Given the description of an element on the screen output the (x, y) to click on. 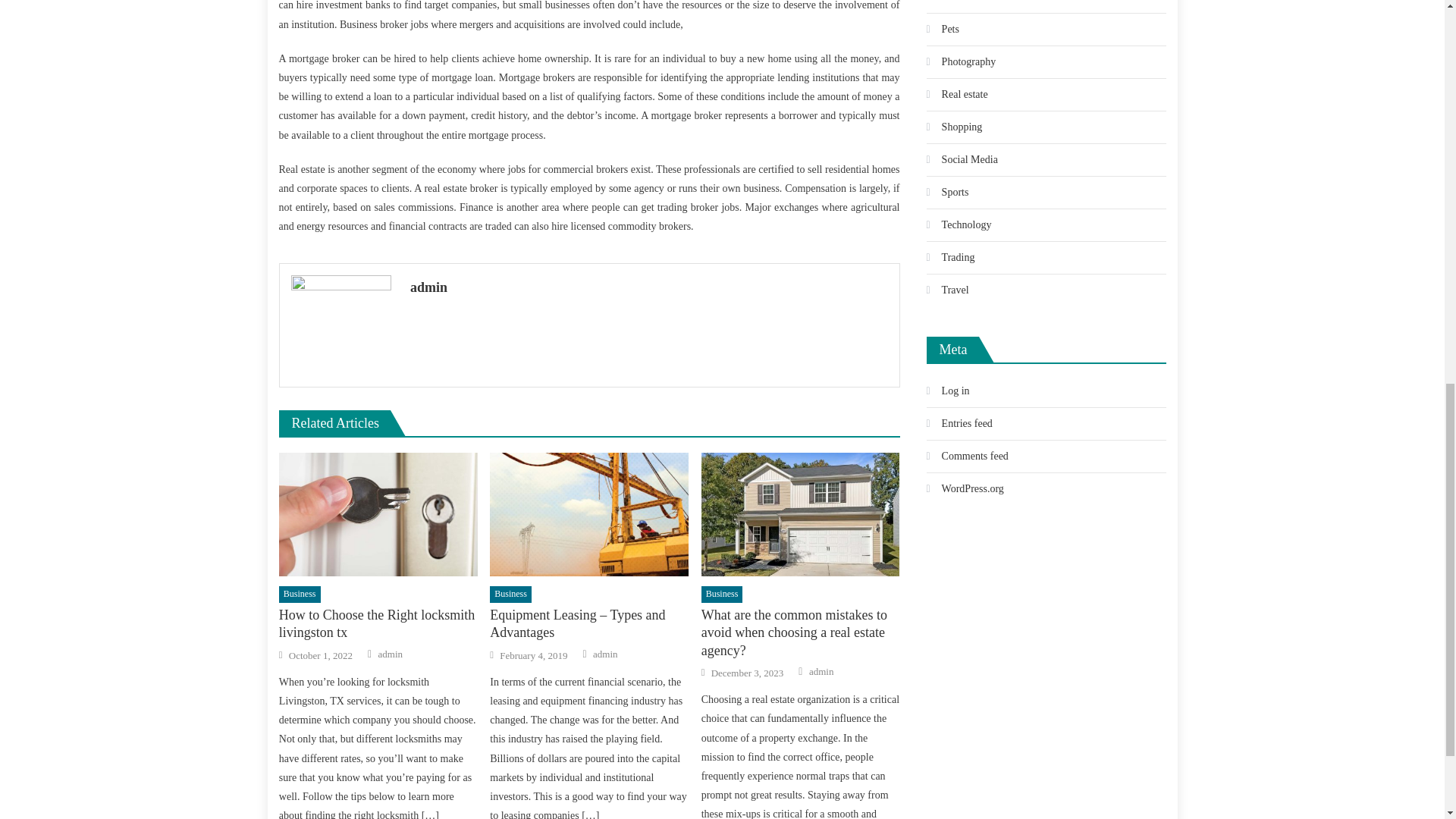
Business (510, 594)
admin (821, 671)
admin (390, 653)
December 3, 2023 (747, 673)
How to Choose the Right locksmith livingston tx (378, 624)
Business (721, 594)
February 4, 2019 (533, 655)
admin (649, 287)
October 1, 2022 (320, 655)
admin (604, 653)
How to Choose the Right locksmith livingston tx (378, 514)
Business (299, 594)
